Given the description of an element on the screen output the (x, y) to click on. 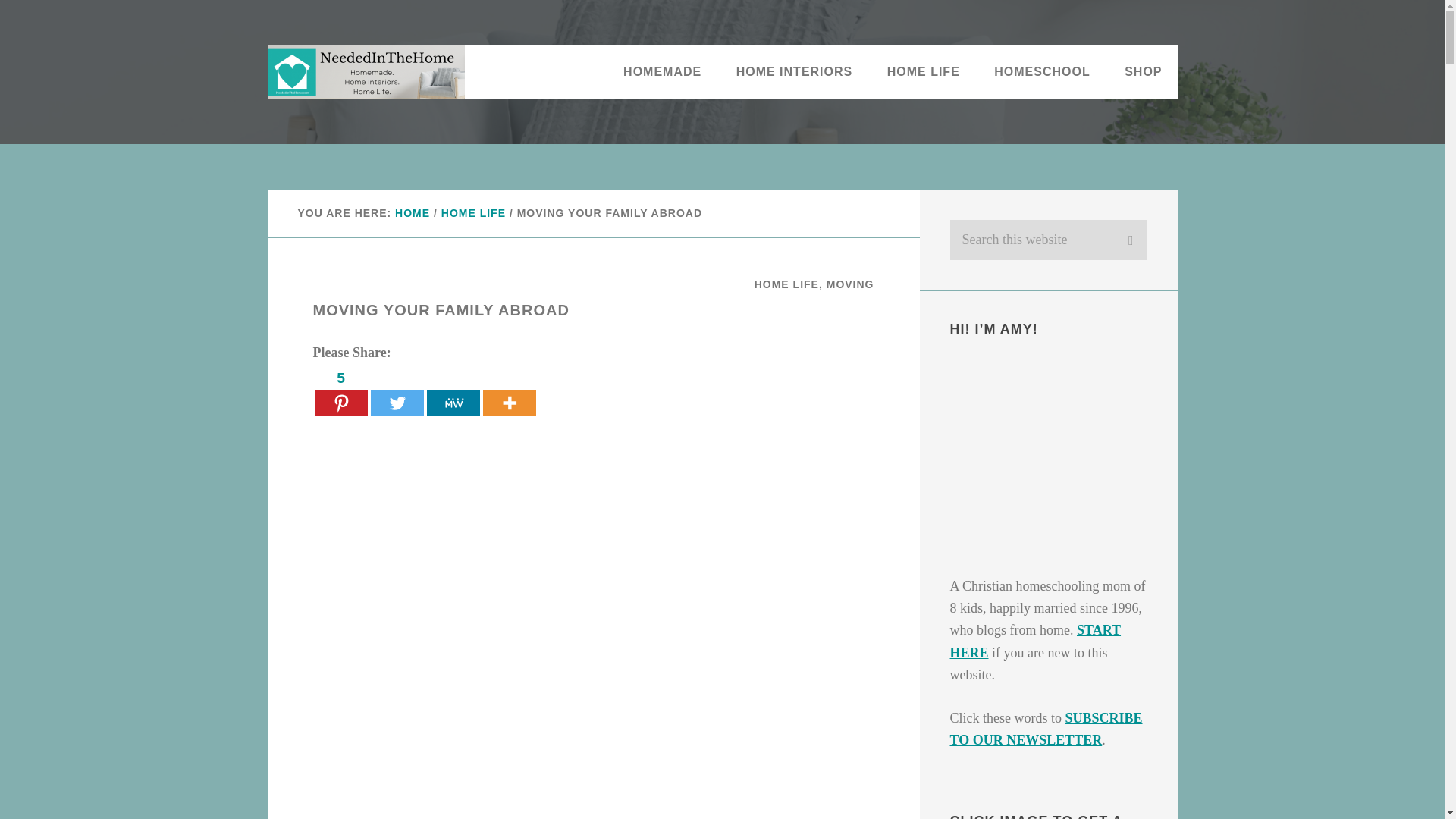
NeededInTheHome (365, 71)
HOME INTERIORS (793, 71)
MeWe (452, 391)
Twitter (396, 391)
HOME LIFE (923, 71)
More (508, 391)
Pinterest (340, 391)
HOMEMADE (662, 71)
